Given the description of an element on the screen output the (x, y) to click on. 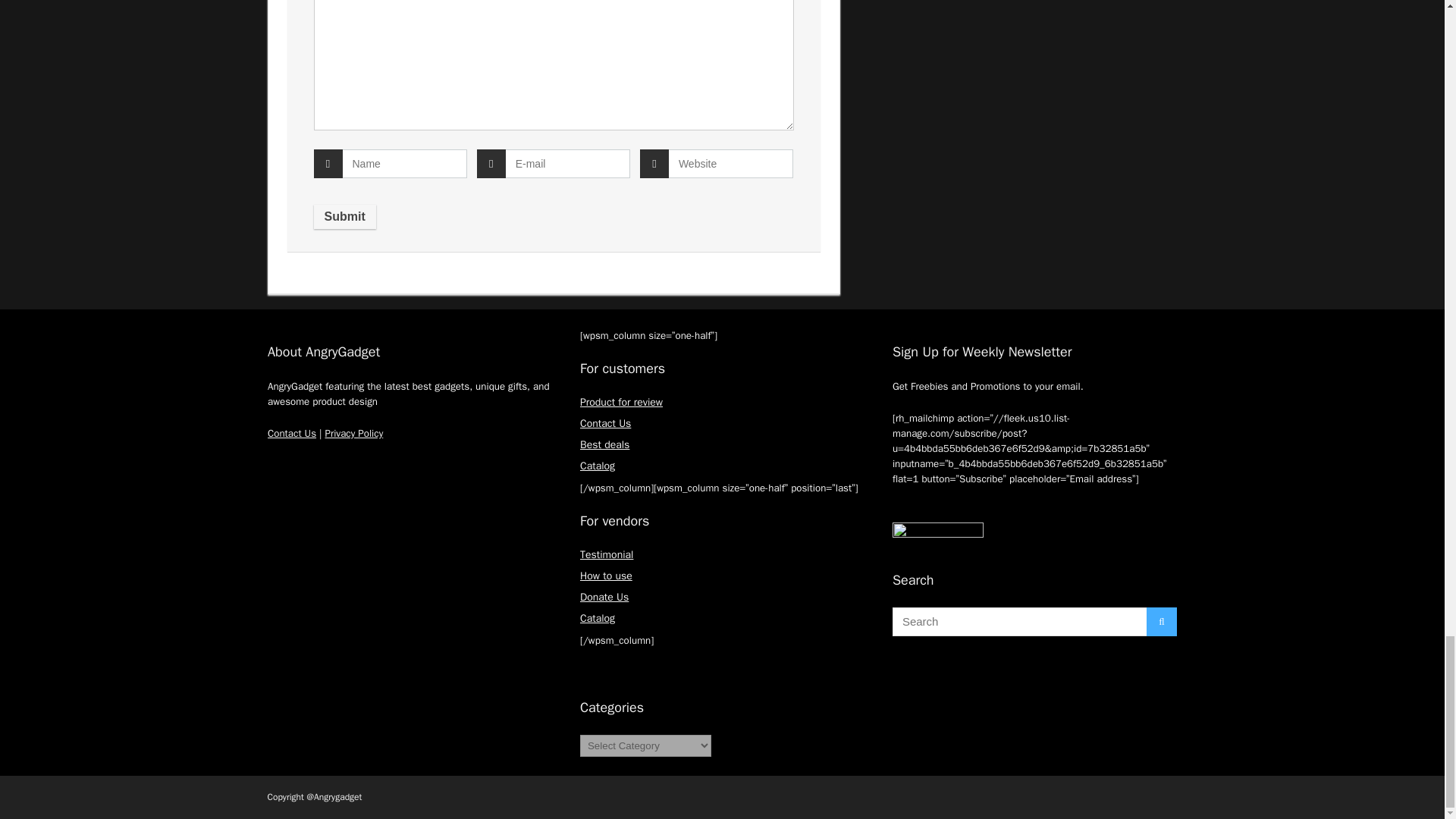
Privacy Policy (353, 432)
Submit (344, 216)
Submit (344, 216)
Contact Us (291, 432)
